Given the description of an element on the screen output the (x, y) to click on. 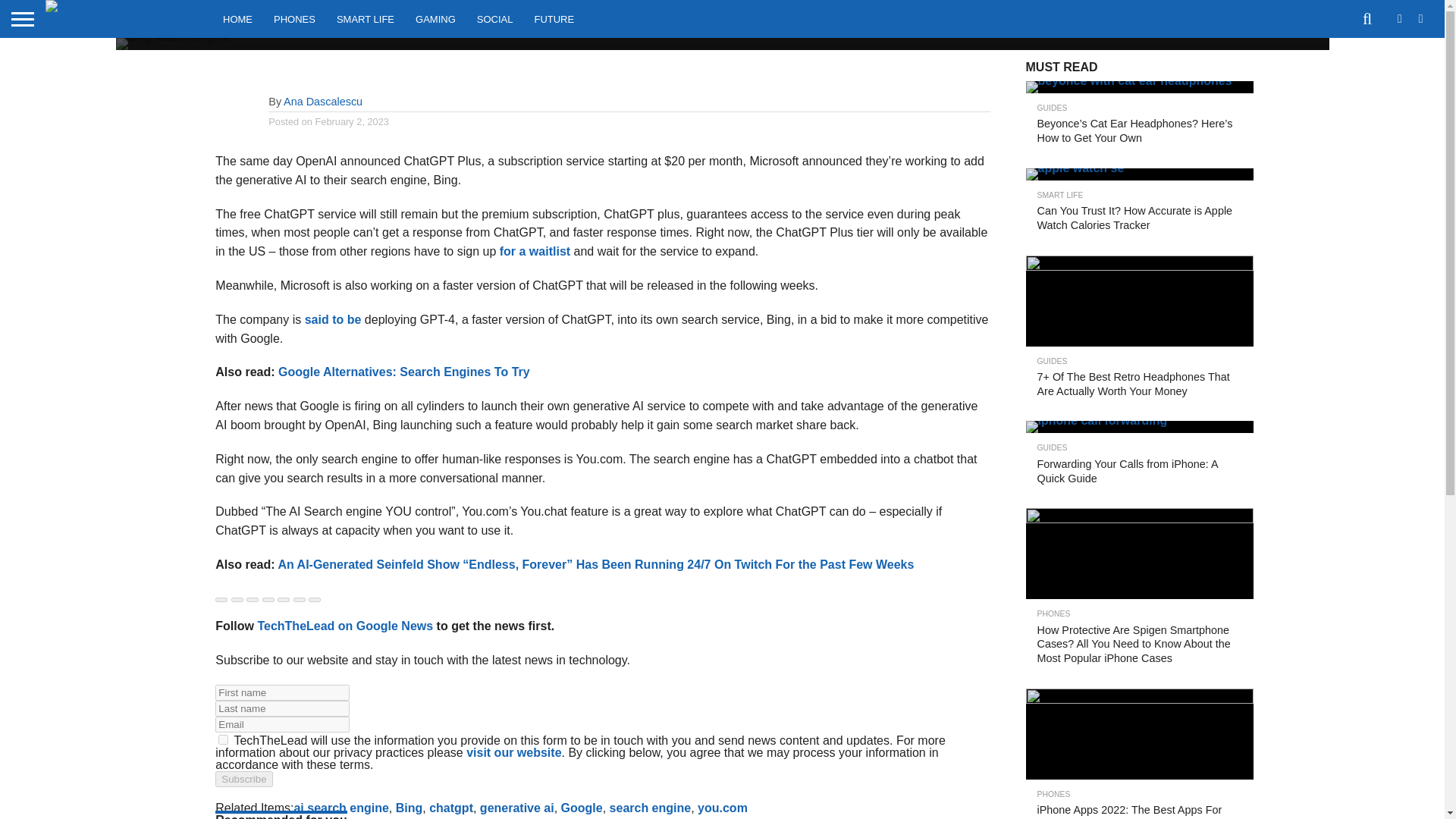
SMART LIFE (365, 18)
GAMING (434, 18)
Posts by Ana Dascalescu (322, 101)
1 (223, 739)
SOCIAL (494, 18)
Subscribe (243, 779)
FUTURE (553, 18)
HOME (237, 18)
PHONES (294, 18)
